Given the description of an element on the screen output the (x, y) to click on. 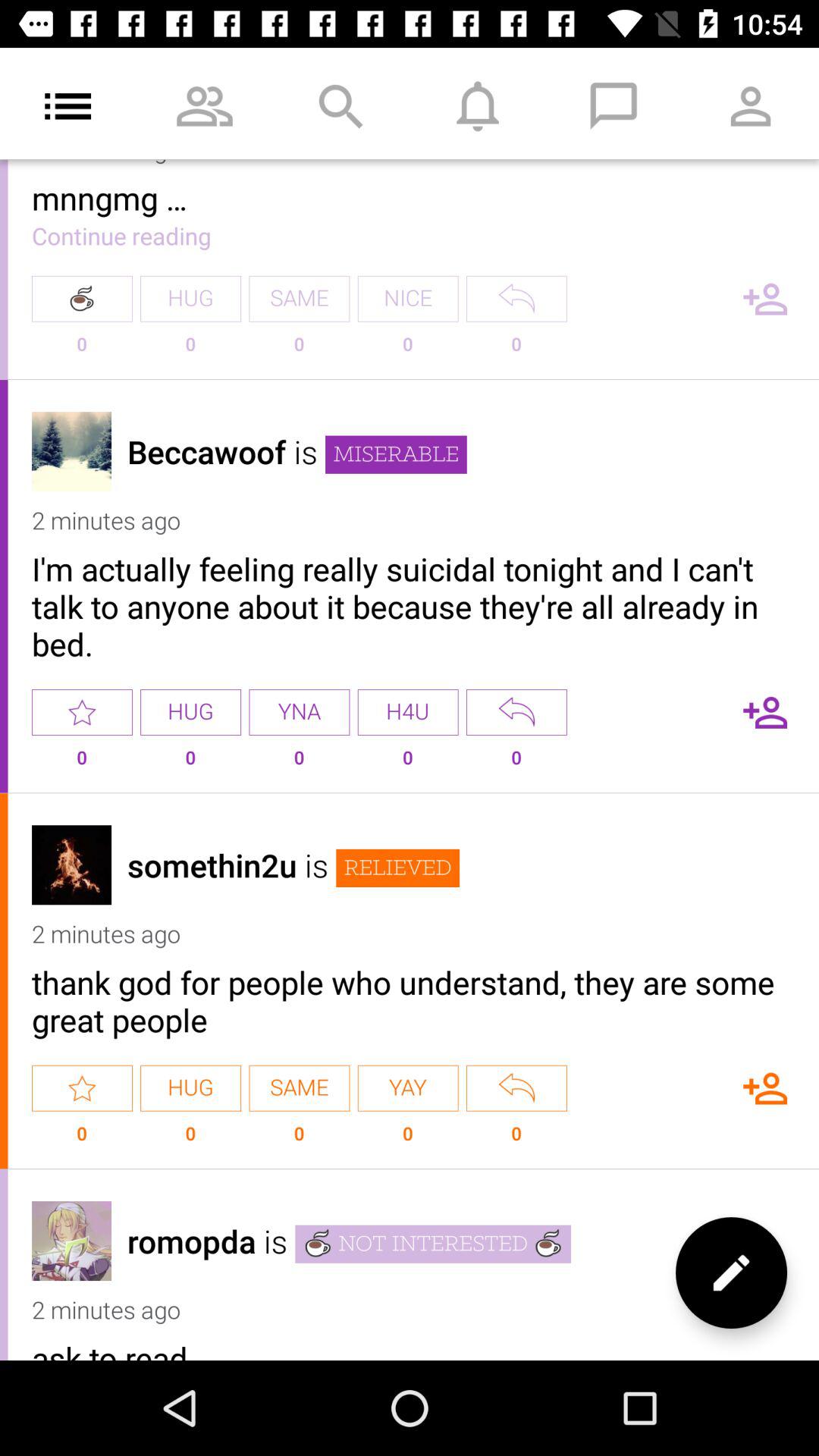
like comment (81, 1088)
